Given the description of an element on the screen output the (x, y) to click on. 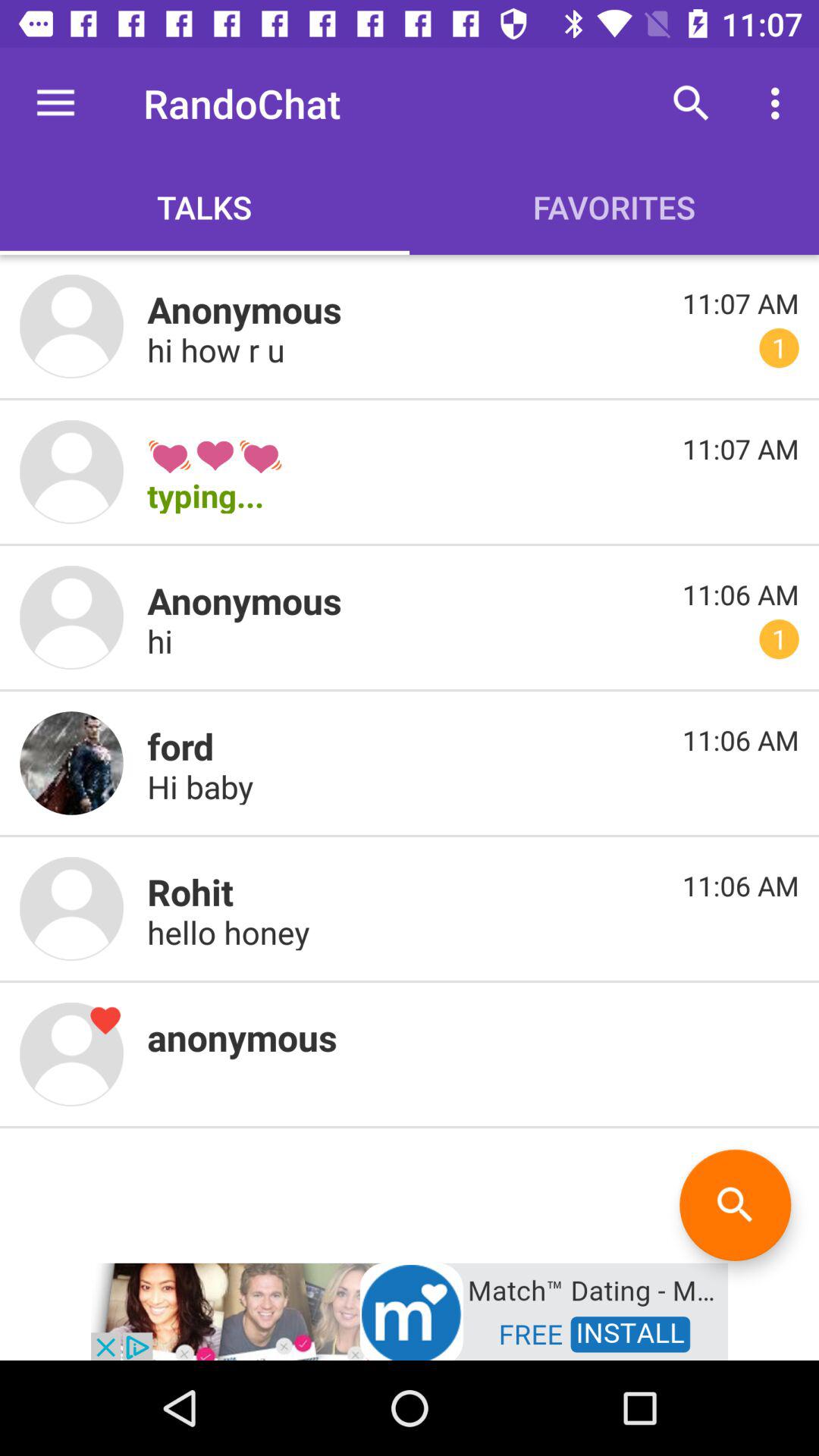
profile (71, 326)
